Given the description of an element on the screen output the (x, y) to click on. 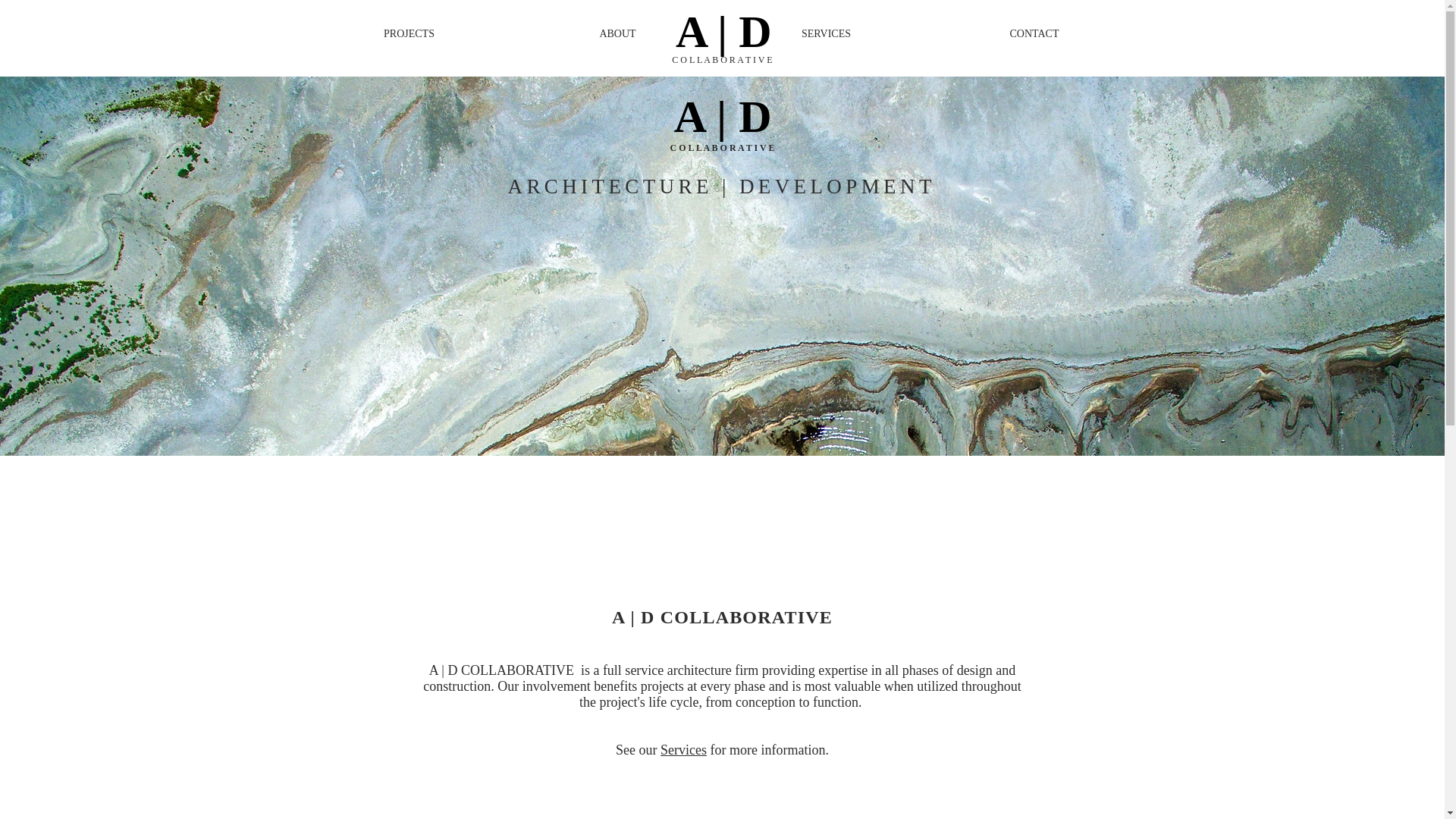
SERVICES (826, 34)
Services (683, 749)
ABOUT (617, 34)
PROJECTS (408, 34)
CONTACT (1034, 34)
